Given the description of an element on the screen output the (x, y) to click on. 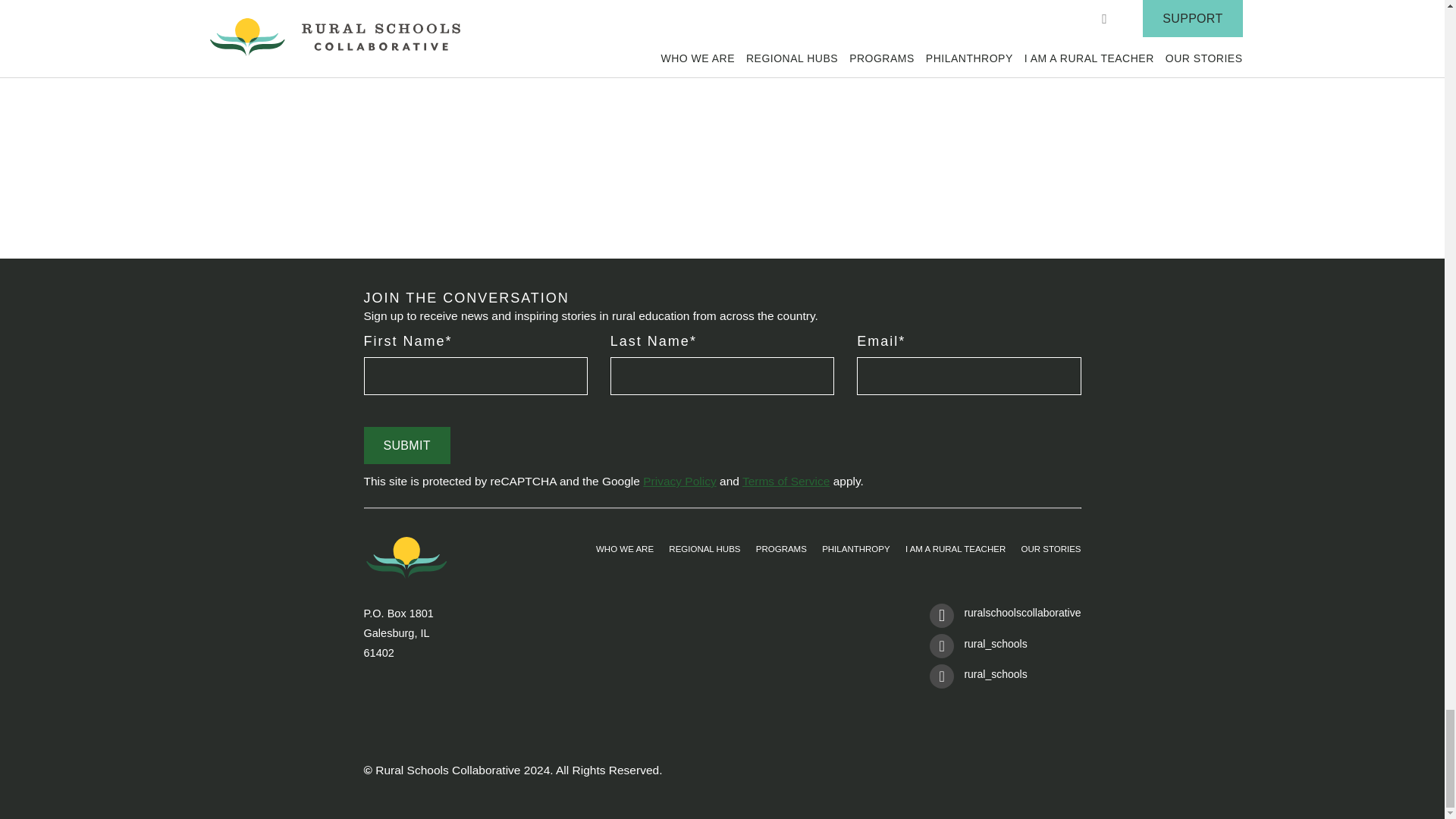
ruralschoolscollaborative (1005, 618)
